Given the description of an element on the screen output the (x, y) to click on. 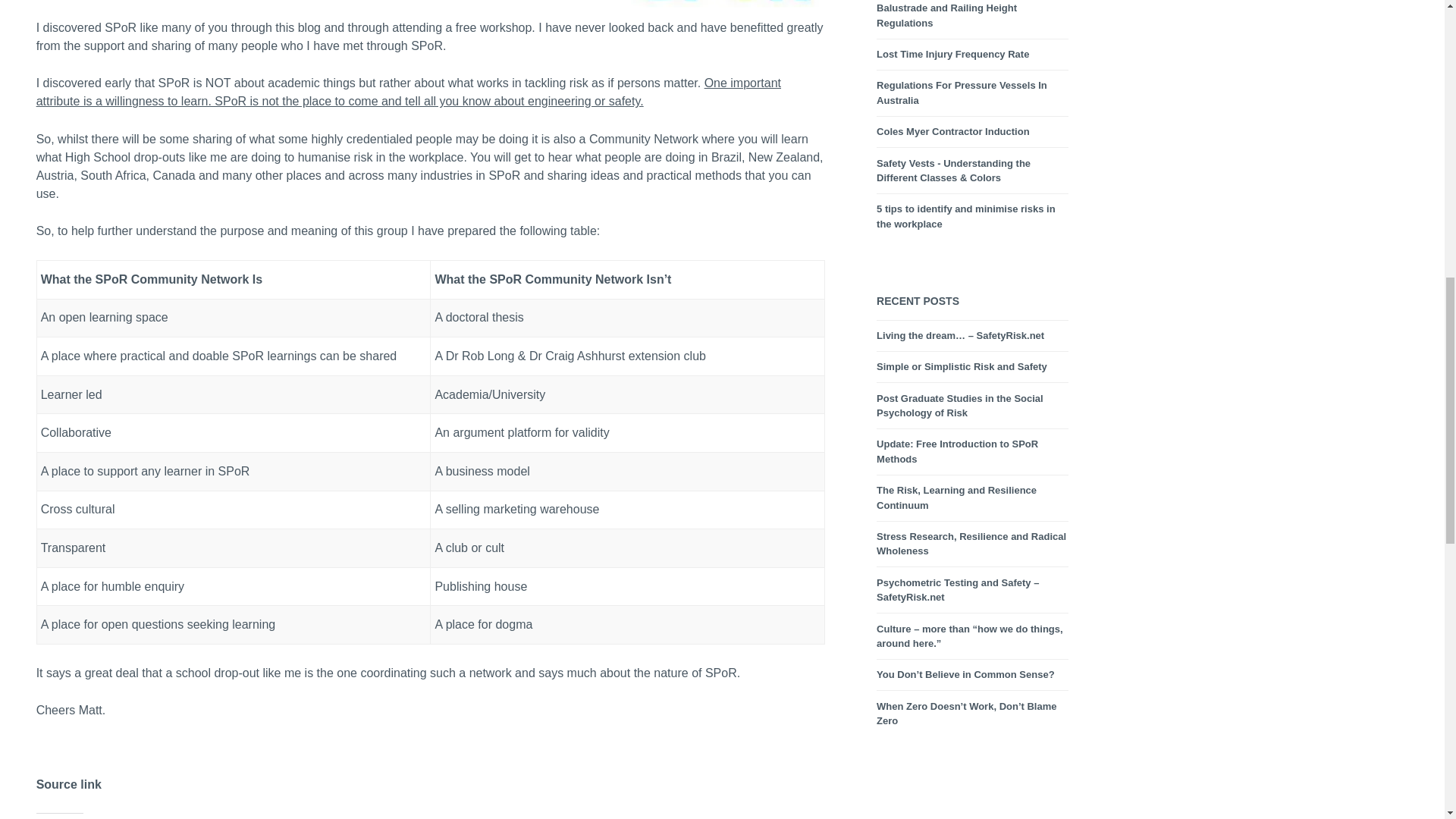
Regulations For Pressure Vessels In Australia (961, 93)
Coles Myer Contractor Induction (952, 132)
Balustrade and Railing Height Regulations (946, 15)
image (727, 6)
5 tips to identify and minimise risks in the workplace (965, 216)
Lost Time Injury Frequency Rate (952, 54)
Source link (68, 785)
